Given the description of an element on the screen output the (x, y) to click on. 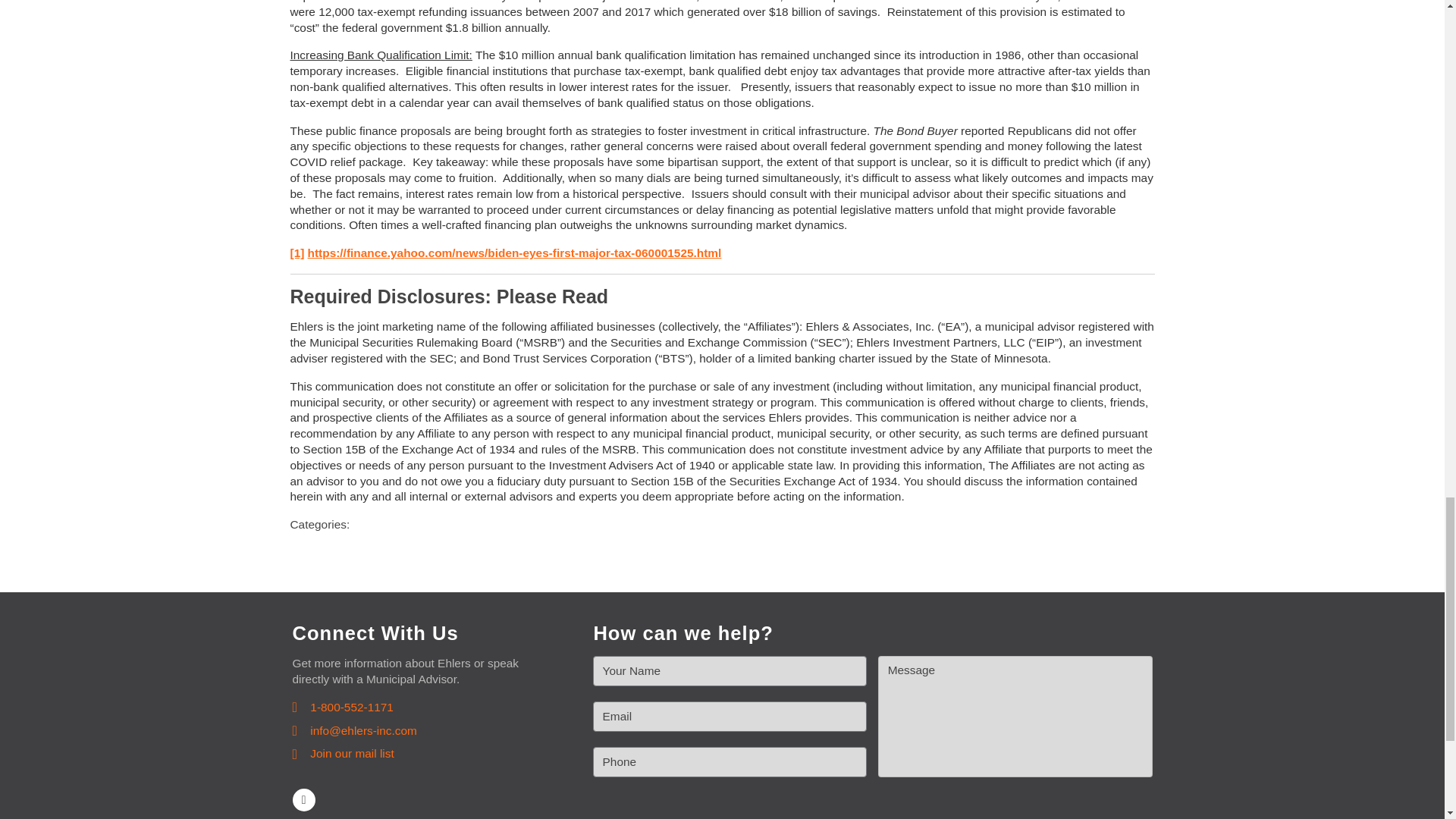
    Join our mail list (343, 754)
    1-800-552-1171 (342, 707)
